Given the description of an element on the screen output the (x, y) to click on. 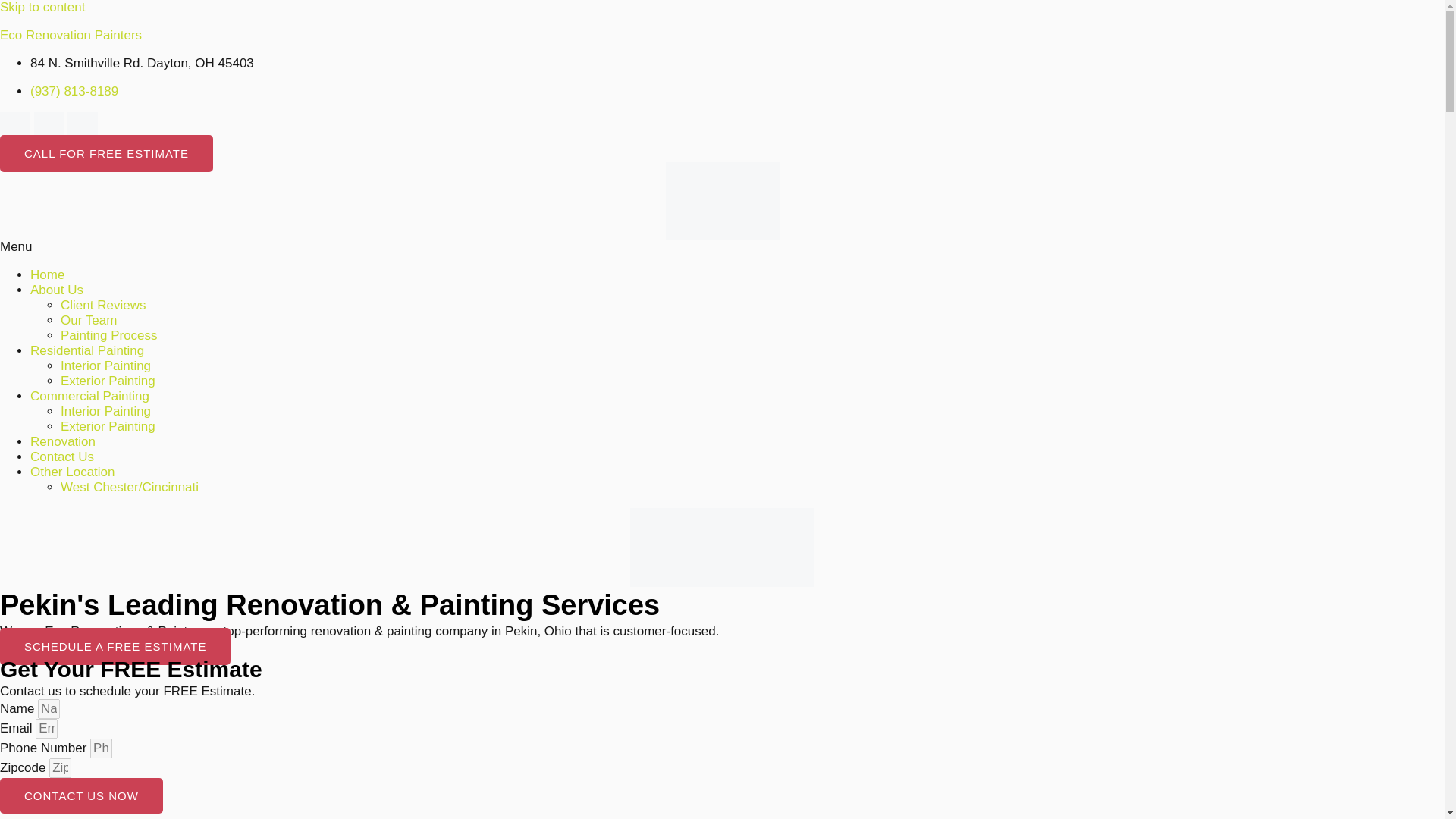
Client Reviews (103, 305)
eco renovations logo (721, 200)
Contact Us (62, 456)
Our Team (88, 319)
Skip to content (42, 7)
Home (47, 274)
CONTACT US NOW (81, 796)
Exterior Painting (108, 380)
Skip to content (42, 7)
Eco Renovation Painters (70, 34)
